Given the description of an element on the screen output the (x, y) to click on. 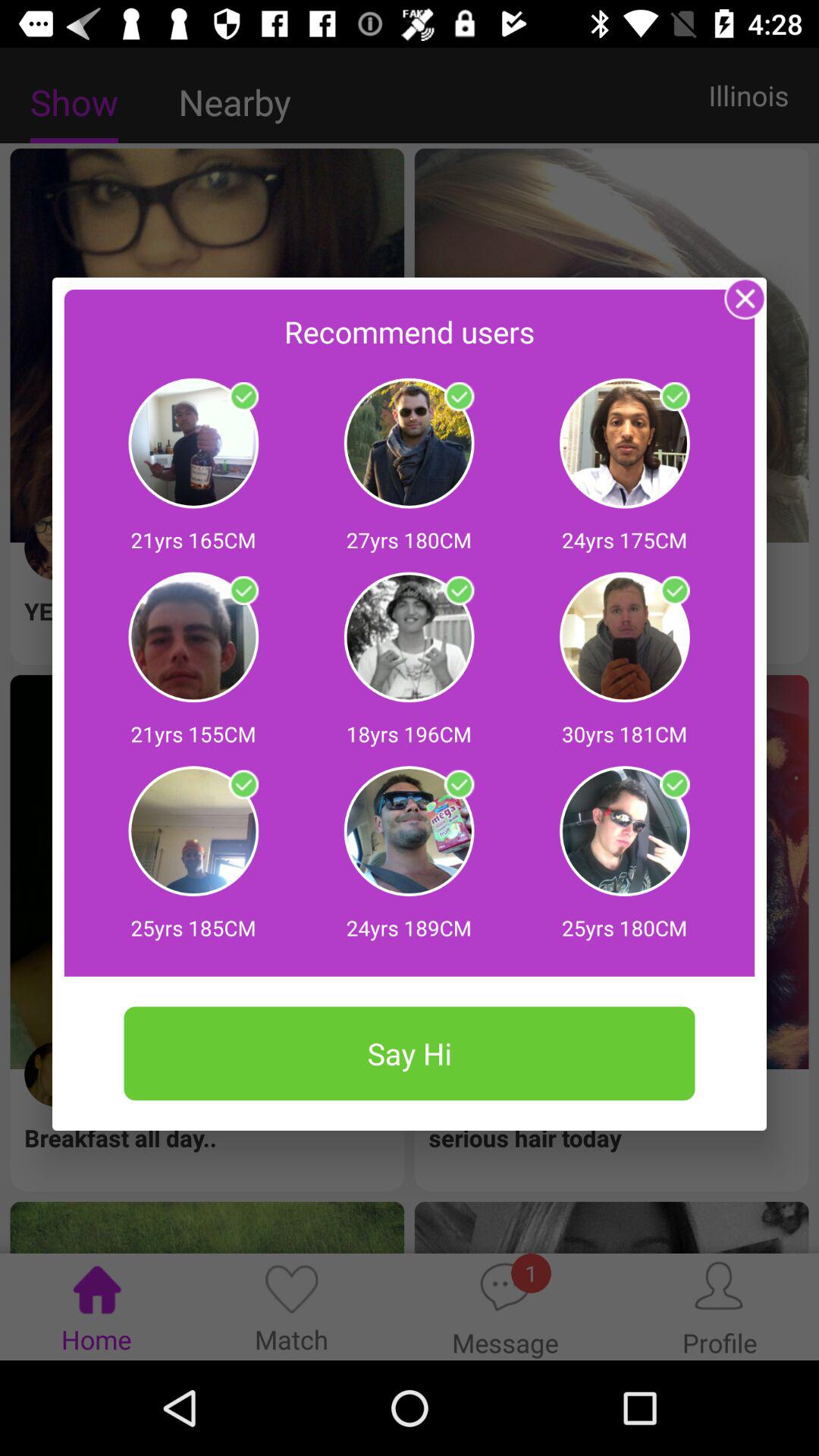
close window (745, 298)
